Given the description of an element on the screen output the (x, y) to click on. 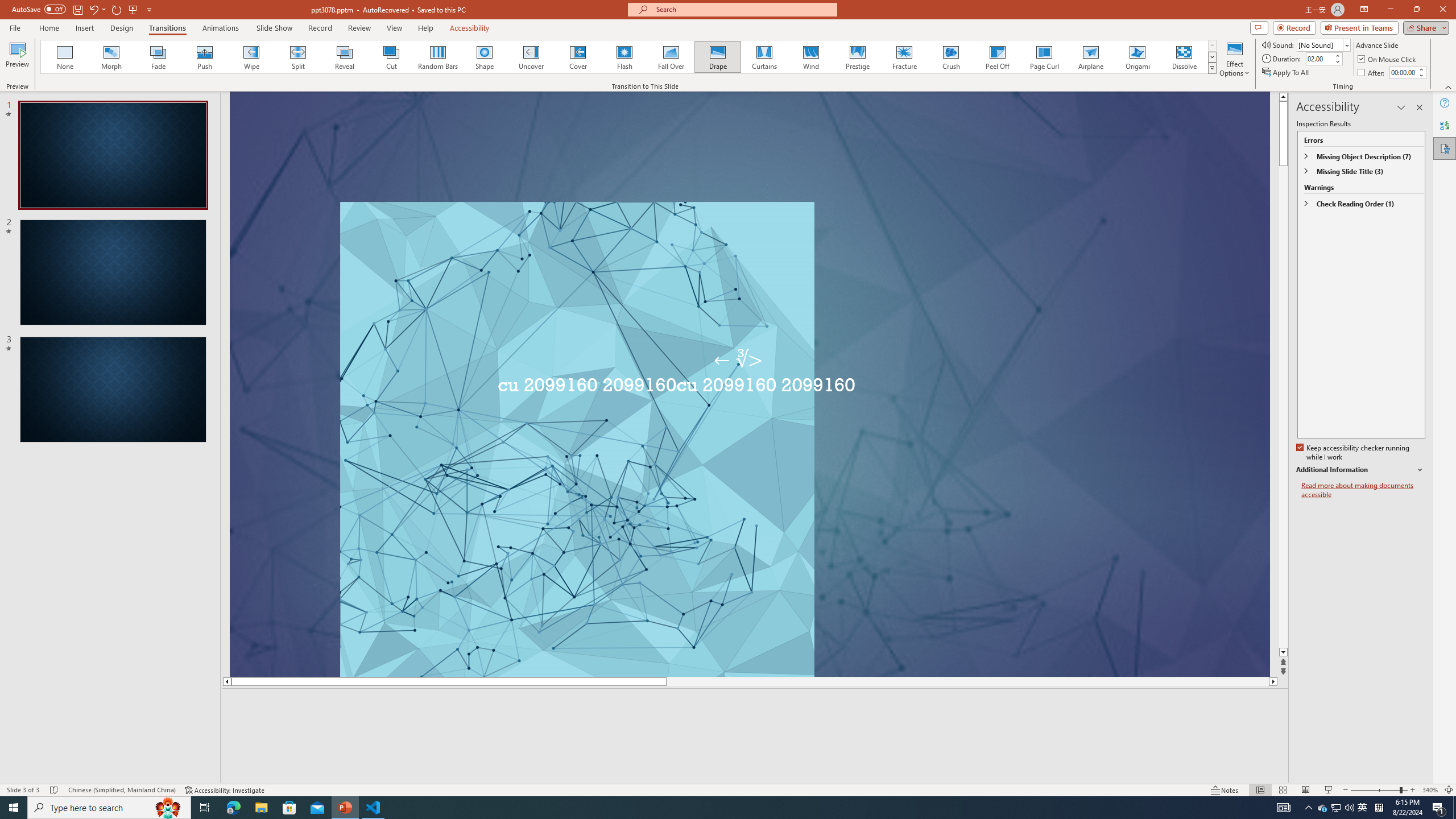
On Mouse Click (1387, 58)
Zoom 340% (1430, 790)
Transition Effects (1212, 67)
Wind (810, 56)
